Given the description of an element on the screen output the (x, y) to click on. 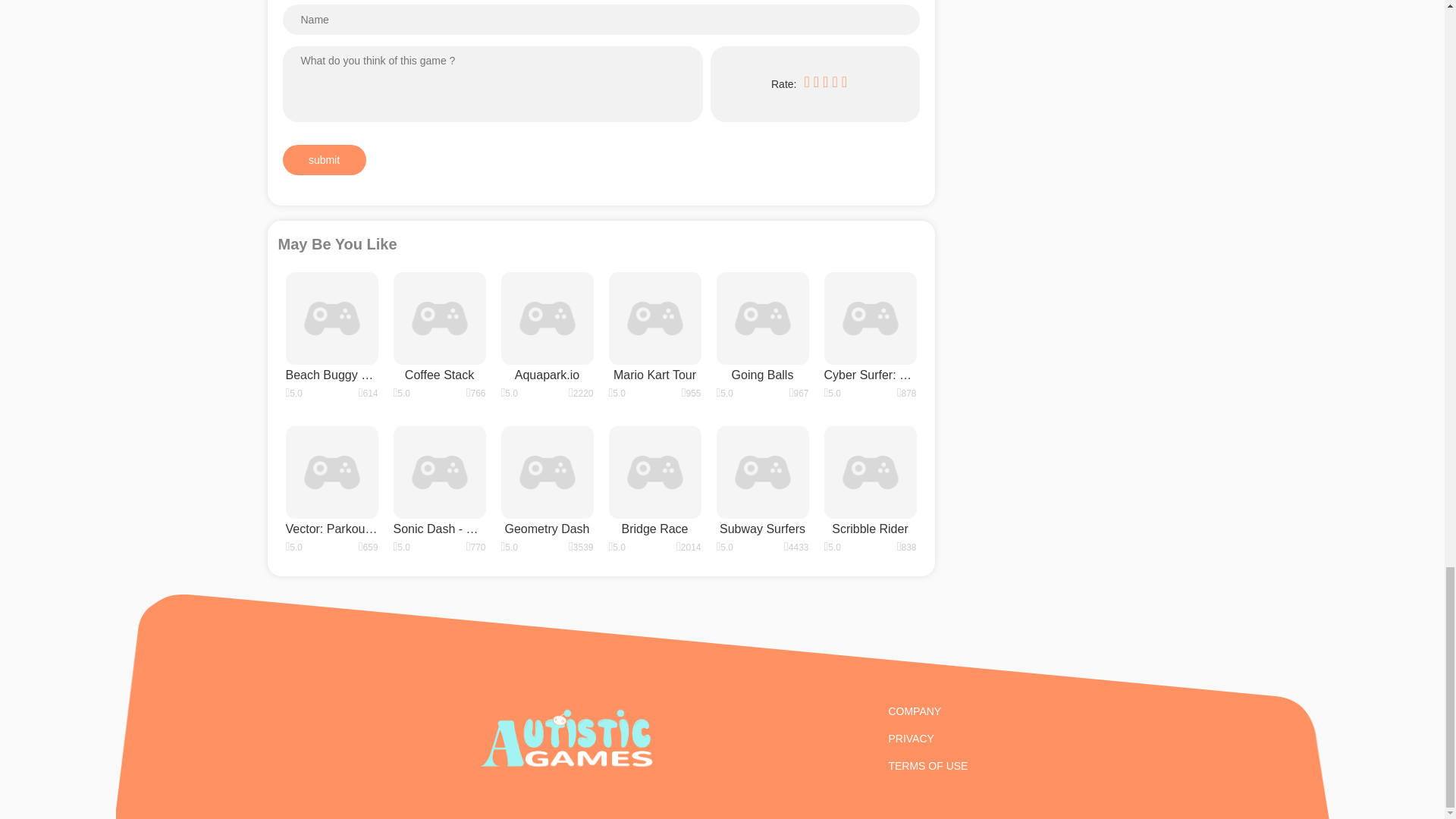
submit (323, 159)
COMPANY (928, 711)
TERMS OF USE (928, 766)
PRIVACY (928, 738)
